Given the description of an element on the screen output the (x, y) to click on. 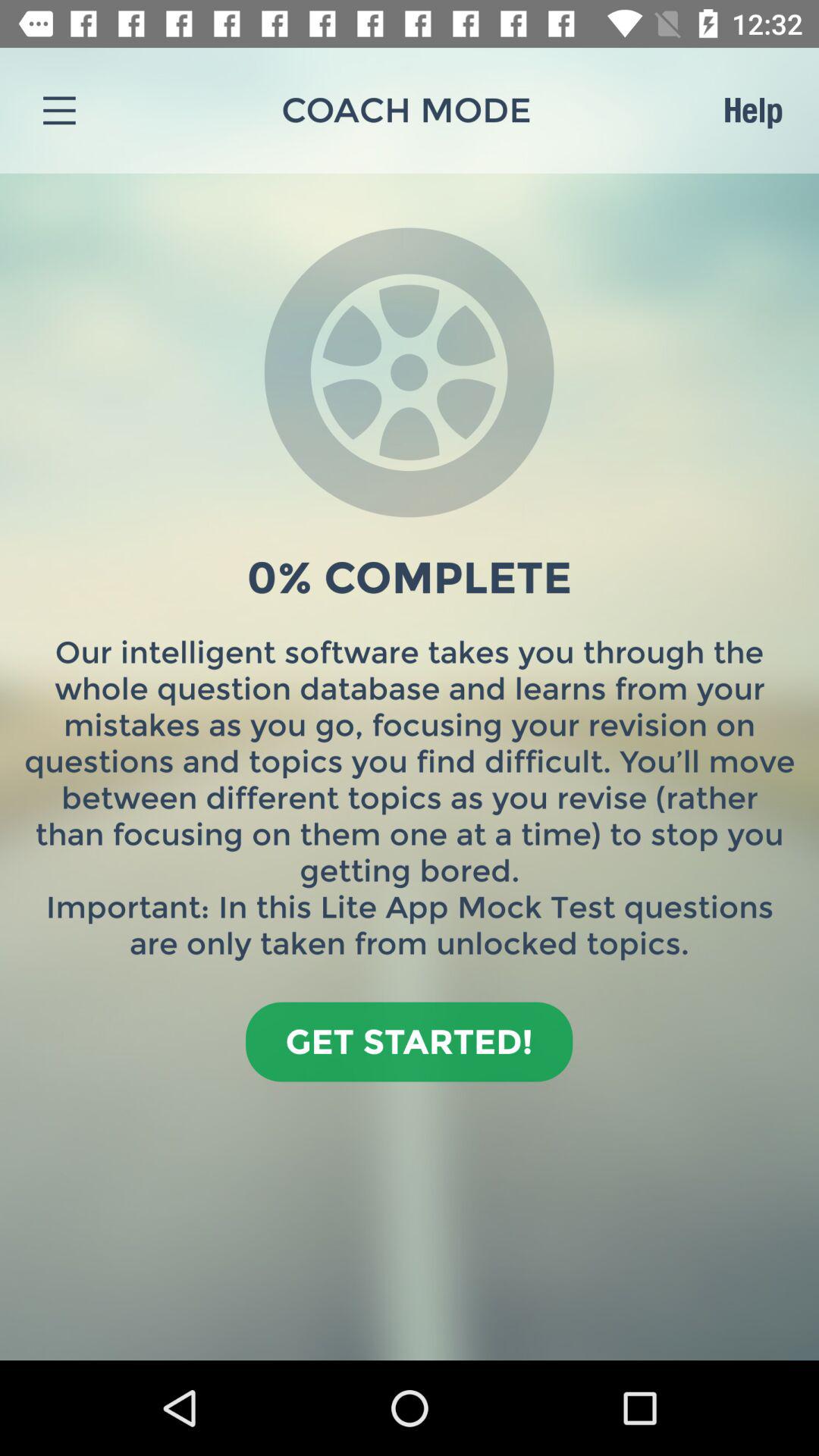
press icon above our intelligent software icon (752, 110)
